Given the description of an element on the screen output the (x, y) to click on. 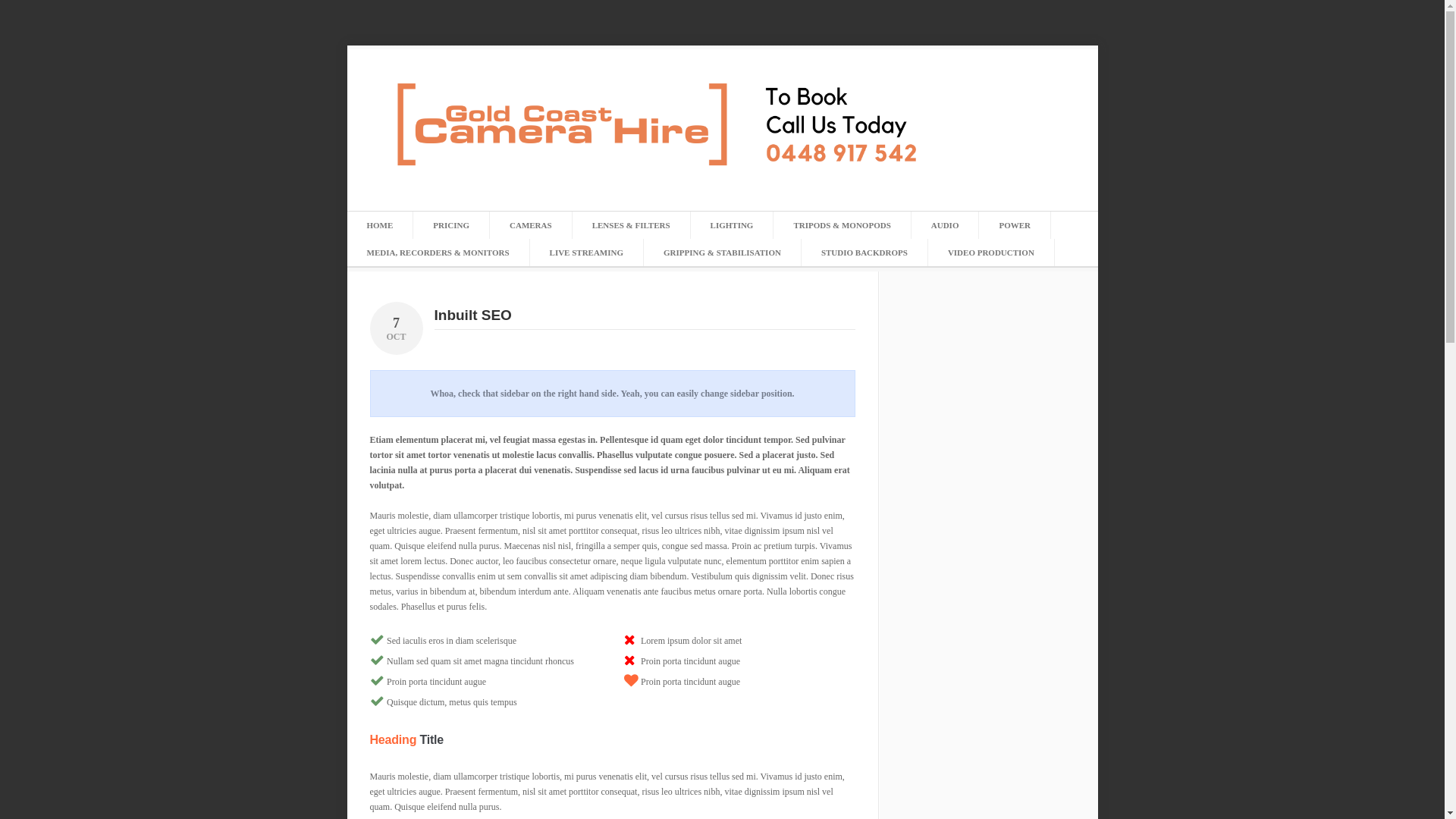
LIGHTING Element type: text (731, 224)
TRIPODS & MONOPODS Element type: text (841, 224)
LIVE STREAMING Element type: text (586, 252)
STUDIO BACKDROPS Element type: text (864, 252)
CAMERAS Element type: text (530, 224)
HOME Element type: text (380, 224)
AUDIO Element type: text (945, 224)
Inbuilt SEO Element type: text (472, 315)
LENSES & FILTERS Element type: text (631, 224)
POWER Element type: text (1014, 224)
GRIPPING & STABILISATION Element type: text (721, 252)
MEDIA, RECORDERS & MONITORS Element type: text (438, 252)
VIDEO PRODUCTION Element type: text (991, 252)
PRICING Element type: text (451, 224)
